Given the description of an element on the screen output the (x, y) to click on. 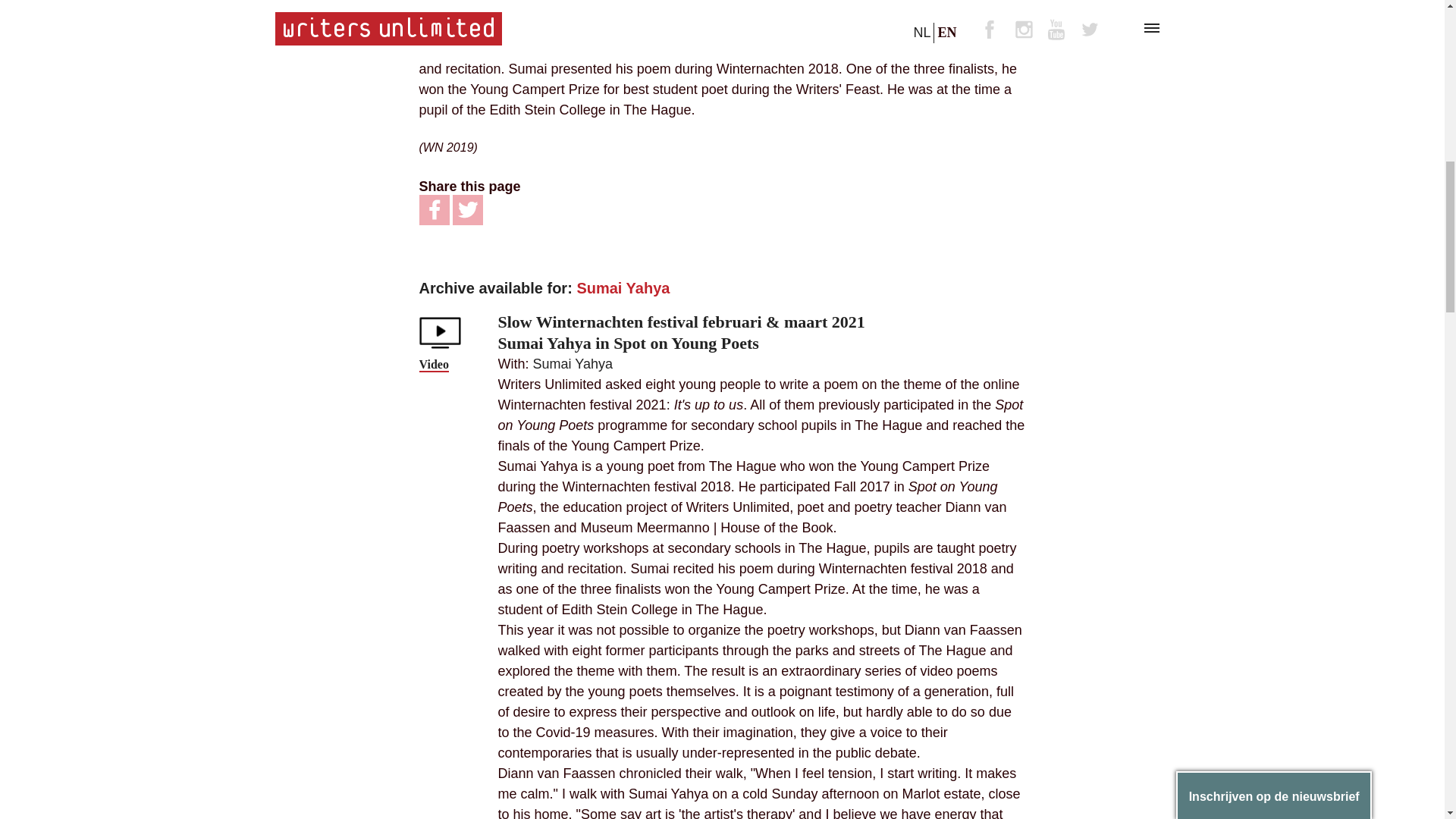
Sumai Yahya (572, 363)
Sumai Yahya in Spot on Young Poets (627, 342)
Video (433, 365)
